Given the description of an element on the screen output the (x, y) to click on. 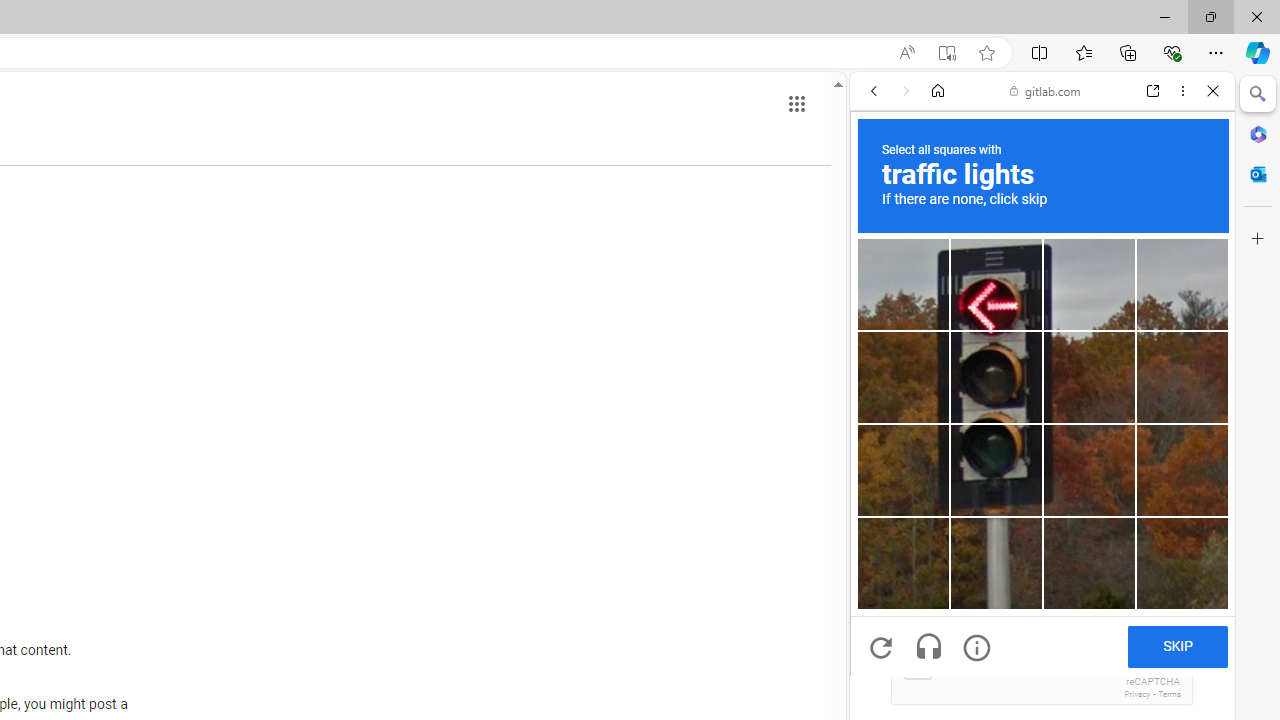
GitLab.com (1042, 333)
About GitLab (1042, 592)
Terms (1169, 694)
Confirmation Page (1042, 690)
Login (1042, 494)
Get an audio challenge (928, 647)
Get a new challenge (880, 647)
